Given the description of an element on the screen output the (x, y) to click on. 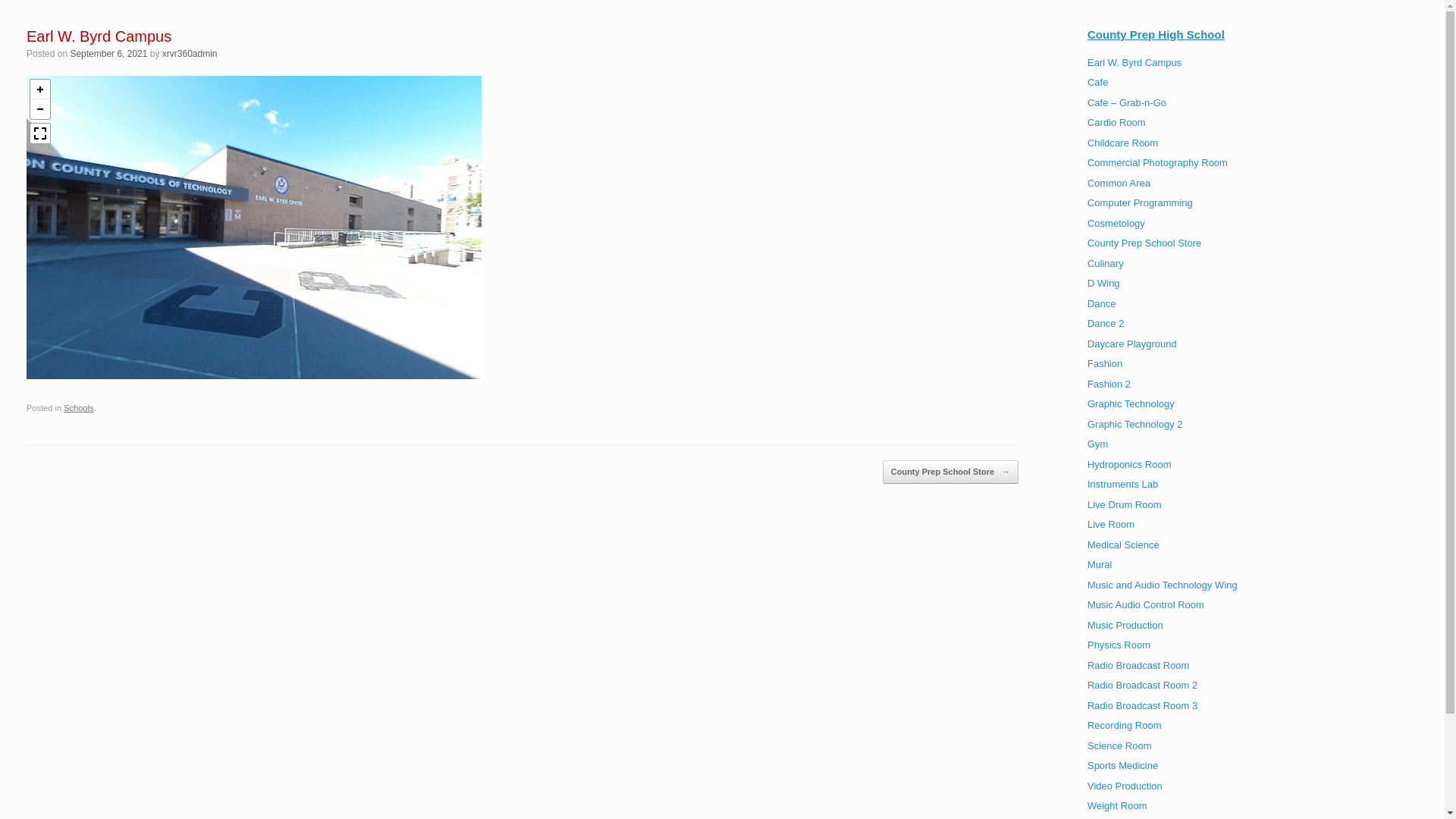
Instruments Lab Element type: text (1122, 483)
D Wing Element type: text (1103, 282)
Weight Room Element type: text (1117, 805)
Culinary Element type: text (1105, 263)
Live Room Element type: text (1110, 524)
Science Room Element type: text (1119, 745)
Cafe Element type: text (1097, 81)
Cosmetology Element type: text (1116, 222)
Dance Element type: text (1101, 302)
Physics Room Element type: text (1118, 644)
Live Drum Room Element type: text (1124, 504)
Schools Element type: text (78, 407)
County Prep School Store Element type: text (1144, 242)
Radio Broadcast Room Element type: text (1138, 665)
Fashion Element type: text (1104, 363)
Music and Audio Technology Wing Element type: text (1162, 584)
Radio Broadcast Room 3 Element type: text (1142, 704)
Fashion 2 Element type: text (1108, 383)
Computer Programming Element type: text (1139, 202)
September 6, 2021 Element type: text (108, 53)
Music Production Element type: text (1125, 624)
Graphic Technology 2 Element type: text (1135, 423)
Dance 2 Element type: text (1105, 323)
Gym Element type: text (1097, 443)
Recording Room Element type: text (1124, 725)
Mural Element type: text (1099, 564)
Graphic Technology Element type: text (1130, 403)
Childcare Room Element type: text (1122, 141)
Music Audio Control Room Element type: text (1145, 604)
Medical Science Element type: text (1123, 543)
Commercial Photography Room Element type: text (1157, 162)
Cardio Room Element type: text (1116, 122)
Earl W. Byrd Campus Element type: text (1134, 61)
xrvr360admin Element type: text (189, 53)
Daycare Playground Element type: text (1131, 343)
County Prep High School Element type: text (1155, 34)
Common Area Element type: text (1118, 182)
Sports Medicine Element type: text (1122, 765)
Video Production Element type: text (1124, 784)
Hydroponics Room Element type: text (1129, 463)
Radio Broadcast Room 2 Element type: text (1142, 684)
